Given the description of an element on the screen output the (x, y) to click on. 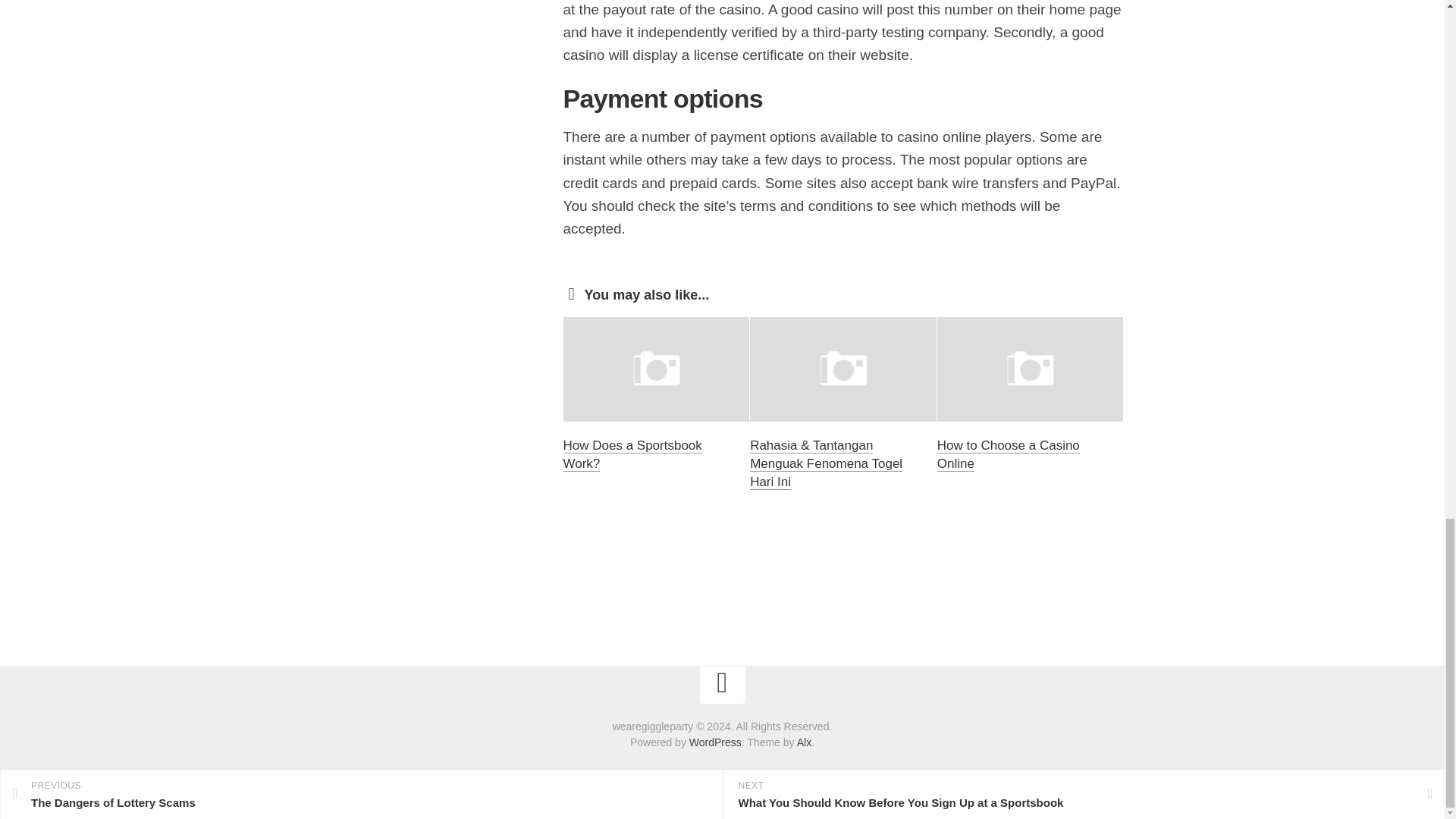
WordPress (714, 742)
How to Choose a Casino Online (1008, 454)
Alx (803, 742)
How Does a Sportsbook Work? (631, 454)
